Given the description of an element on the screen output the (x, y) to click on. 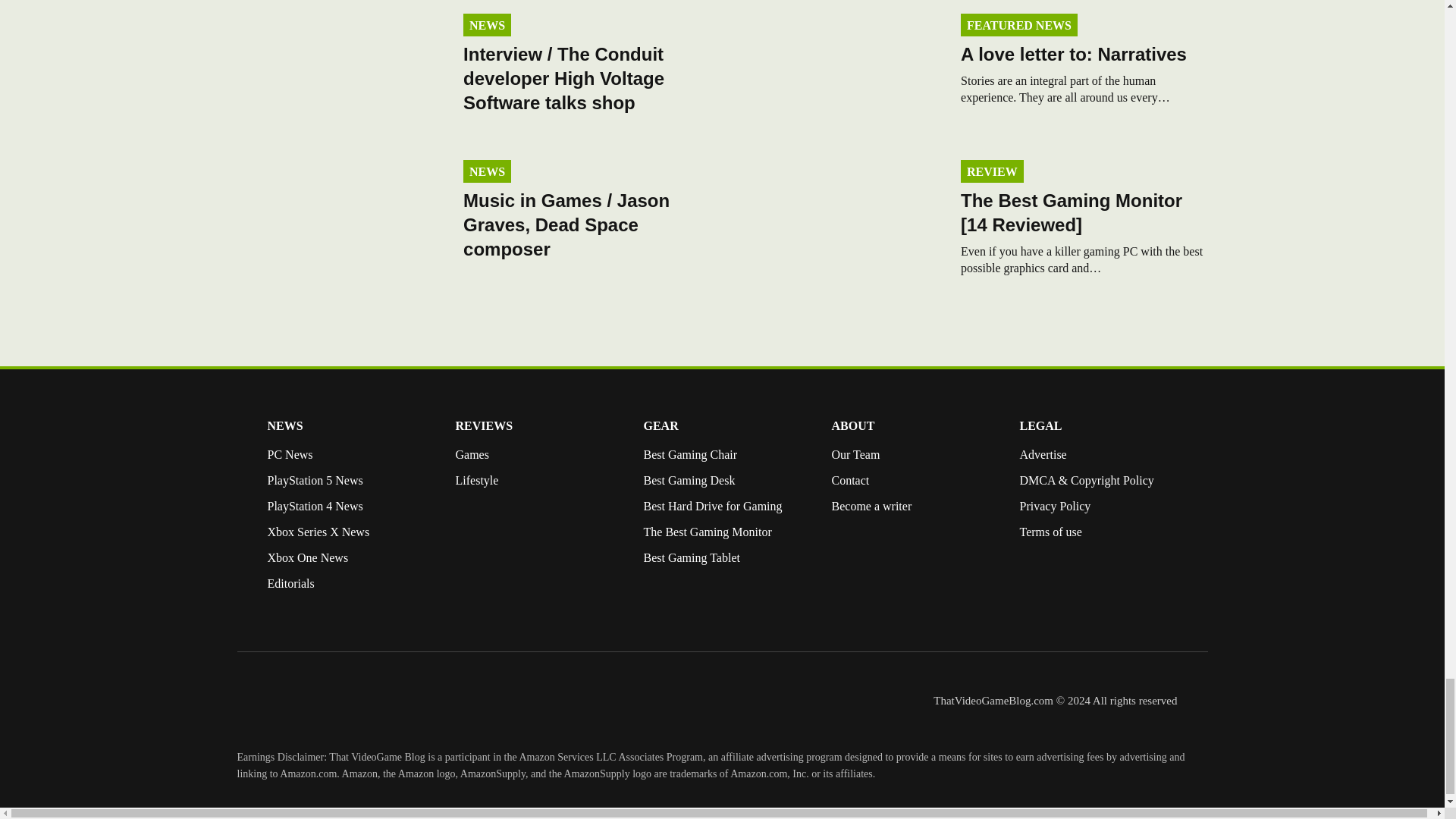
DMCA.com Protection Program (1049, 594)
